Given the description of an element on the screen output the (x, y) to click on. 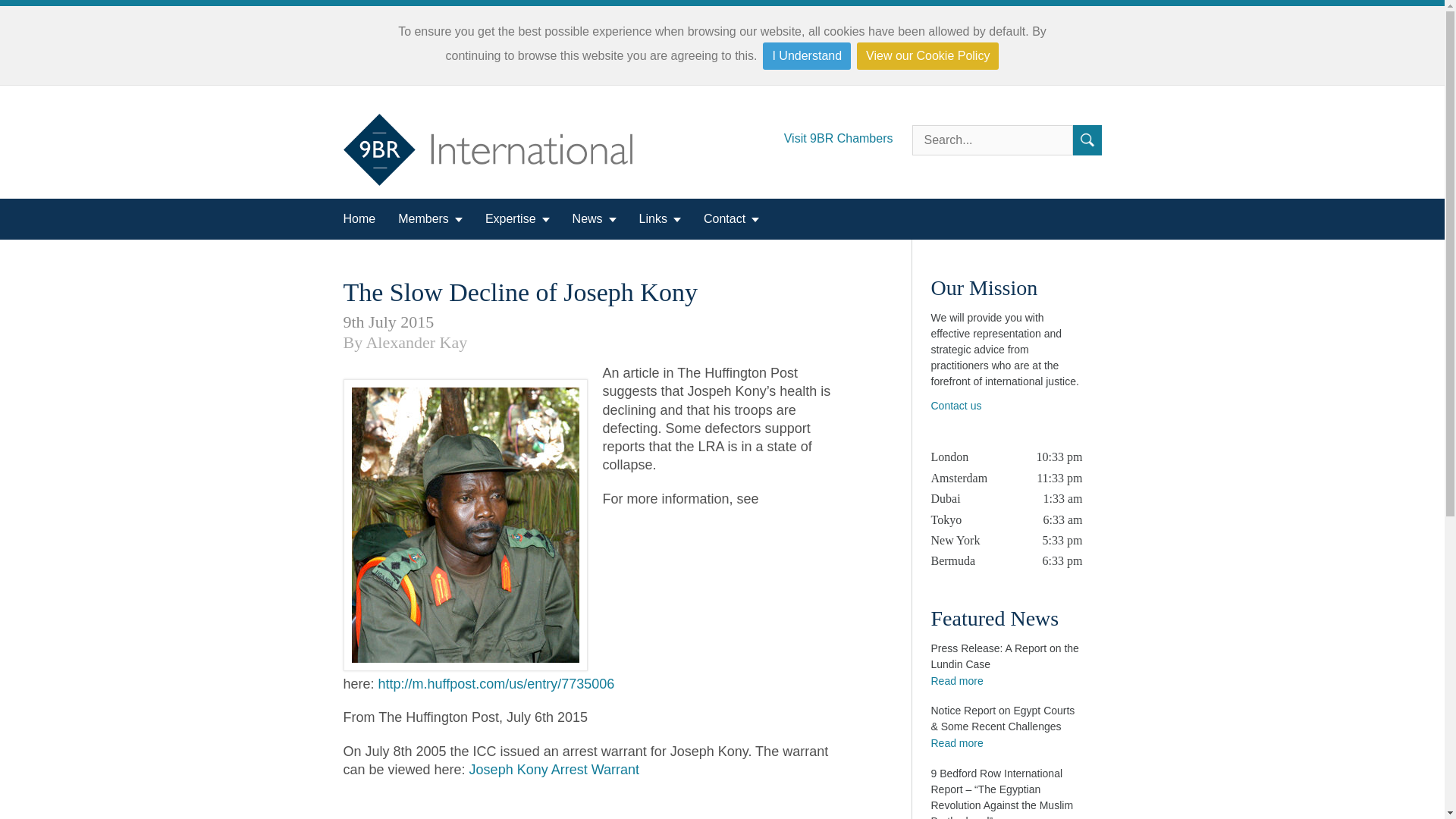
Visit 9BR Chambers (848, 134)
Expertise (517, 219)
View our Cookie Policy (927, 55)
Members (430, 219)
I Understand (806, 55)
Posts by Alexander Kay (416, 342)
